Given the description of an element on the screen output the (x, y) to click on. 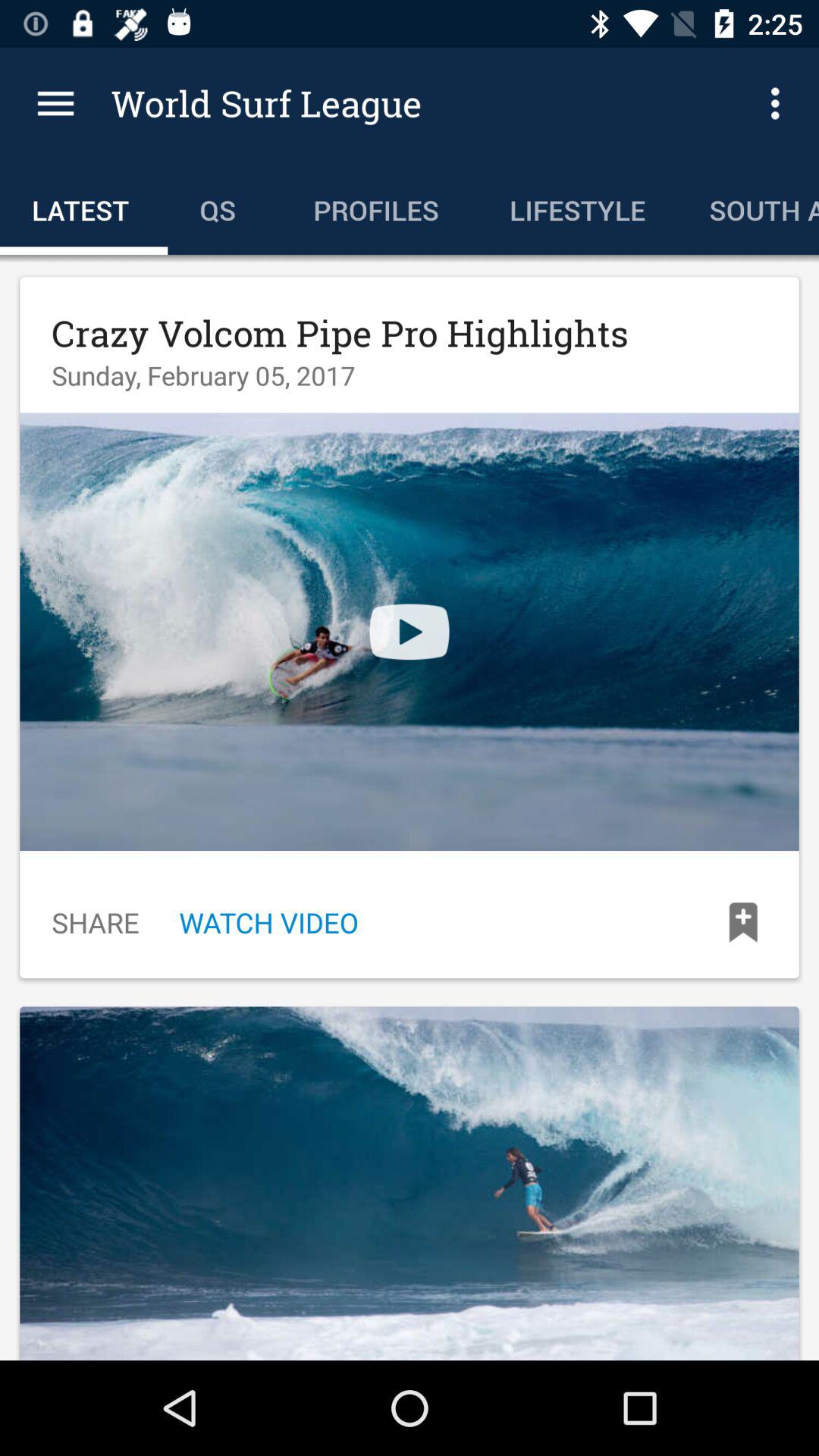
select the watch video (268, 922)
